Given the description of an element on the screen output the (x, y) to click on. 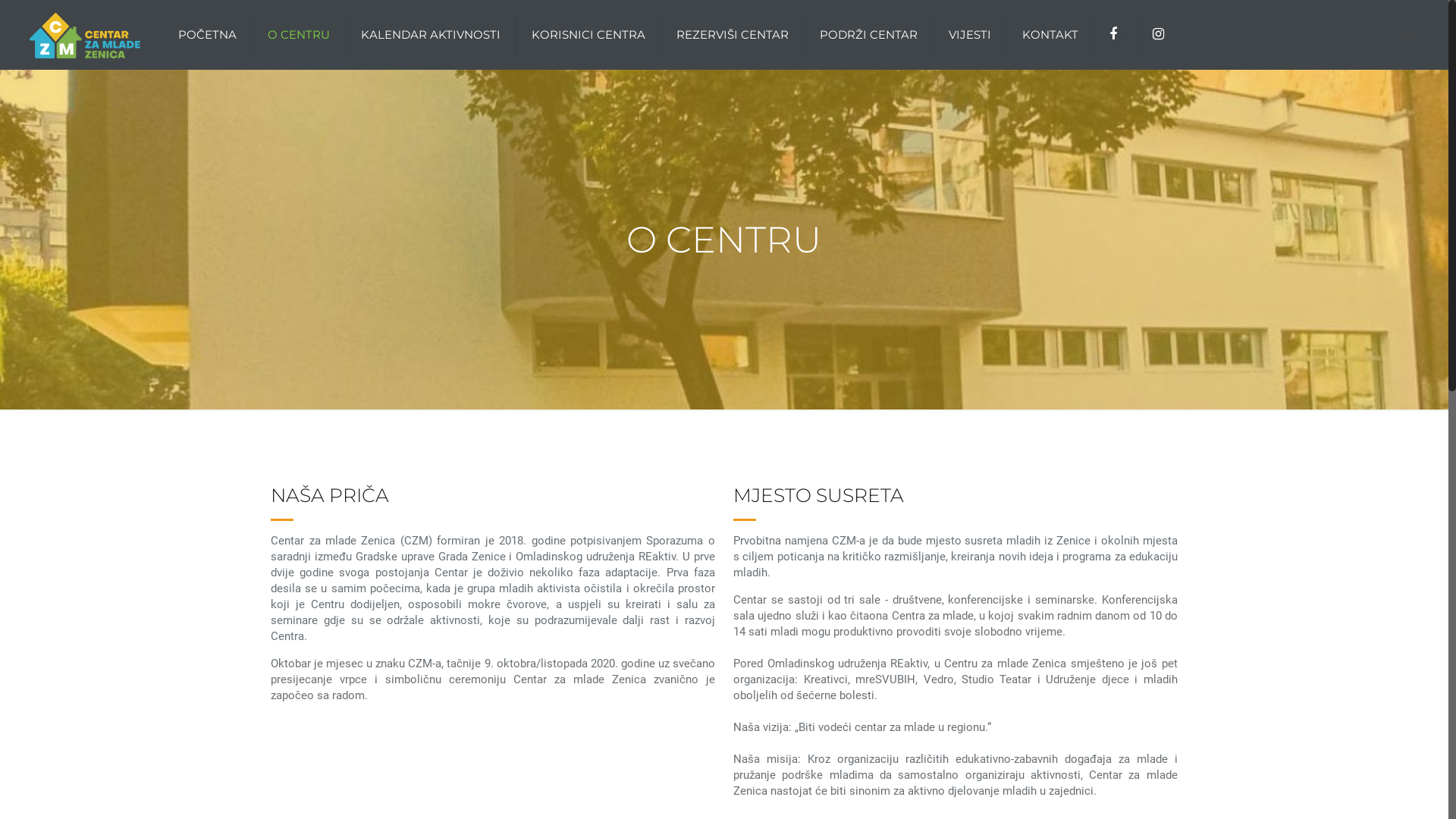
CZM Element type: hover (84, 34)
KORISNICI CENTRA Element type: text (588, 34)
KALENDAR AKTIVNOSTI Element type: text (430, 34)
O CENTRU Element type: text (298, 34)
VIJESTI Element type: text (970, 34)
KONTAKT Element type: text (1050, 34)
